Given the description of an element on the screen output the (x, y) to click on. 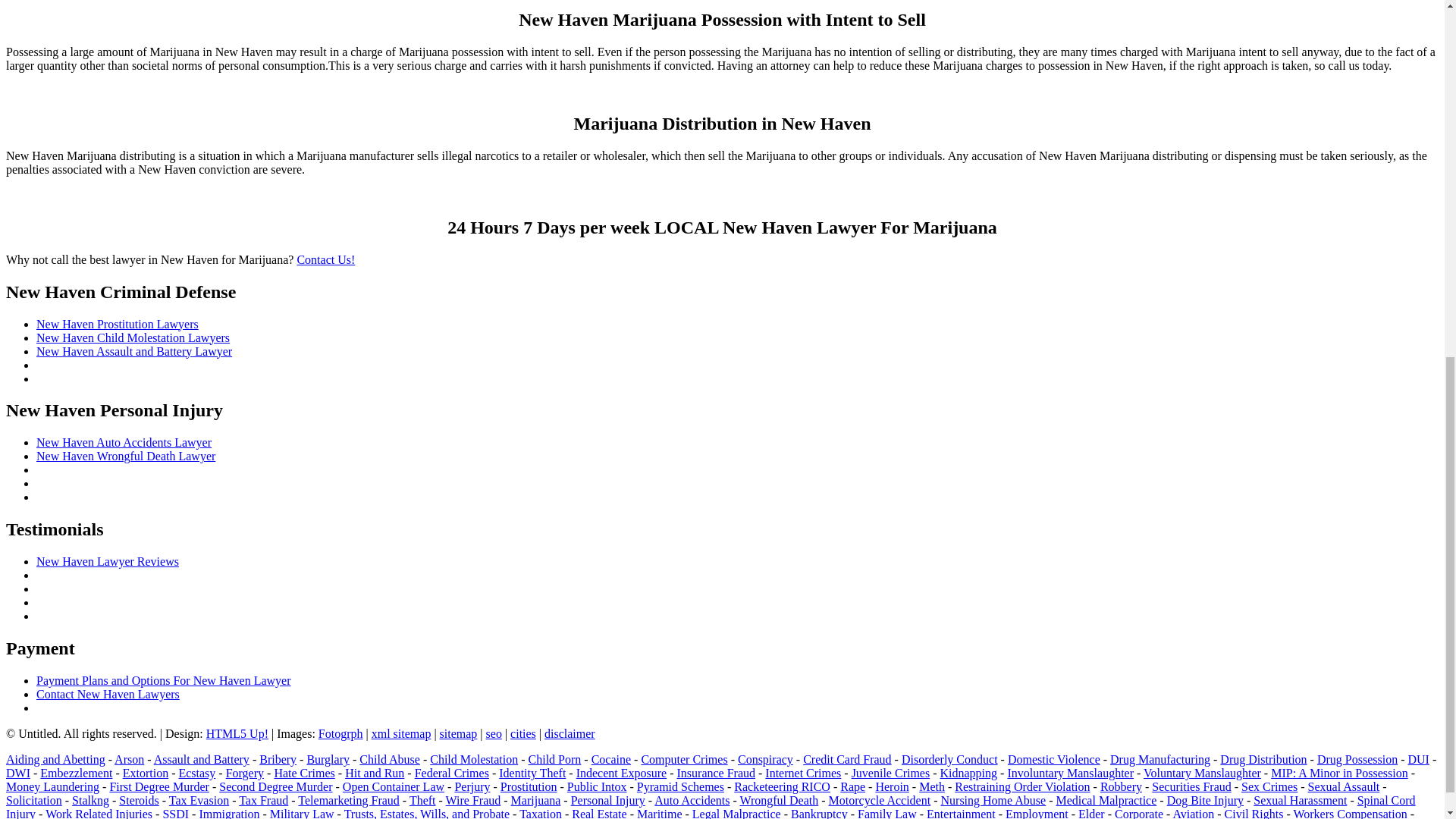
New Haven Wrongful Death Lawyer (125, 455)
Contact Us! (326, 259)
New Haven Prostitution Lawyers (117, 323)
HTML5 Up! (236, 733)
cities (523, 733)
Computer Crimes (683, 758)
Burglary (327, 758)
New Haven Assault and Battery Lawyer (133, 350)
seo (494, 733)
Cocaine (610, 758)
